Given the description of an element on the screen output the (x, y) to click on. 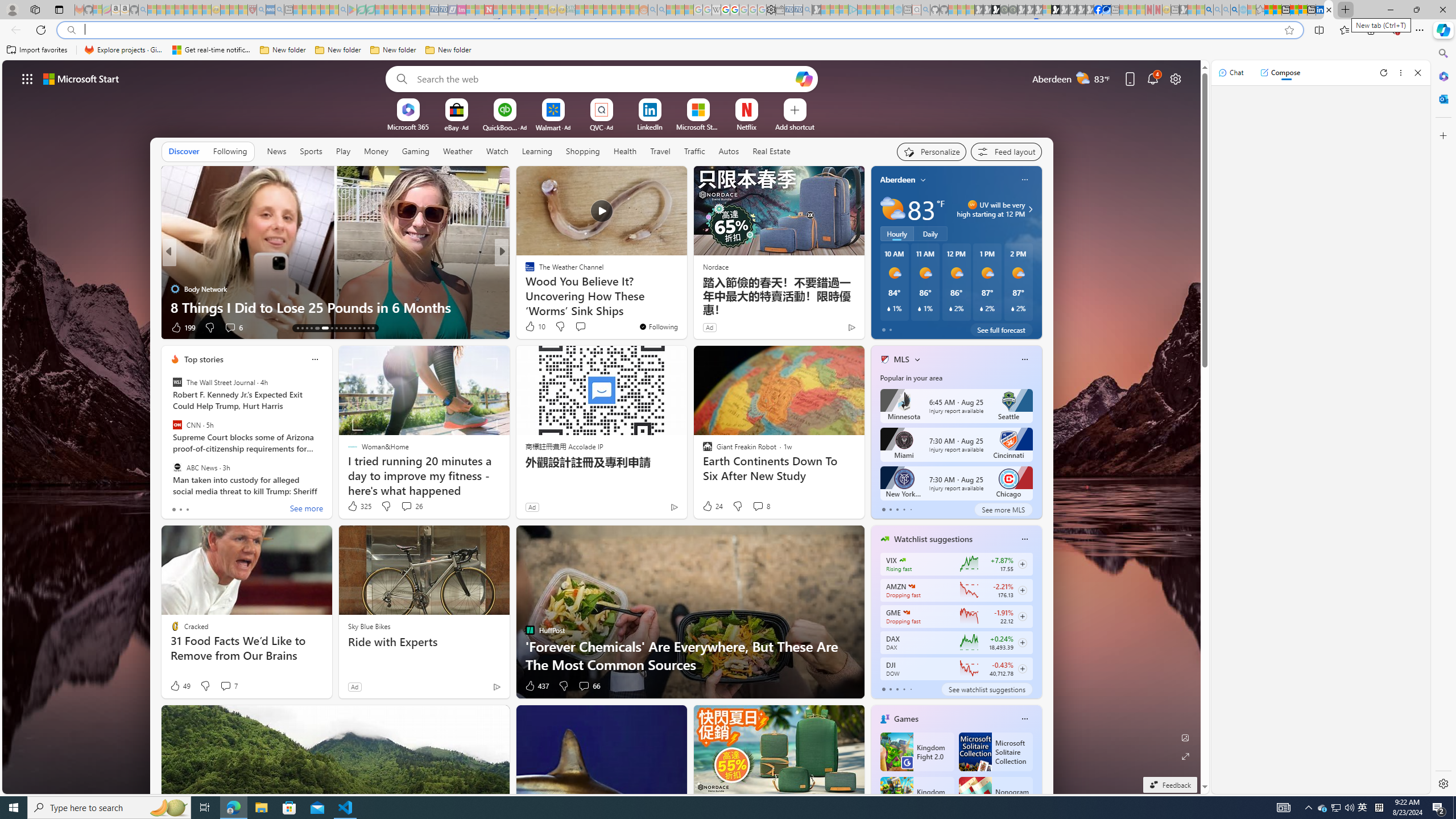
Bing AI - Search (1208, 9)
Ride with Experts (423, 641)
AutomationID: tab-14 (301, 328)
View comments 18 Comment (580, 327)
8 Things I Did to Lose 25 Pounds in 6 Months (335, 307)
tab-2 (897, 689)
Privacy Help Center - Policies Help (725, 9)
